Given the description of an element on the screen output the (x, y) to click on. 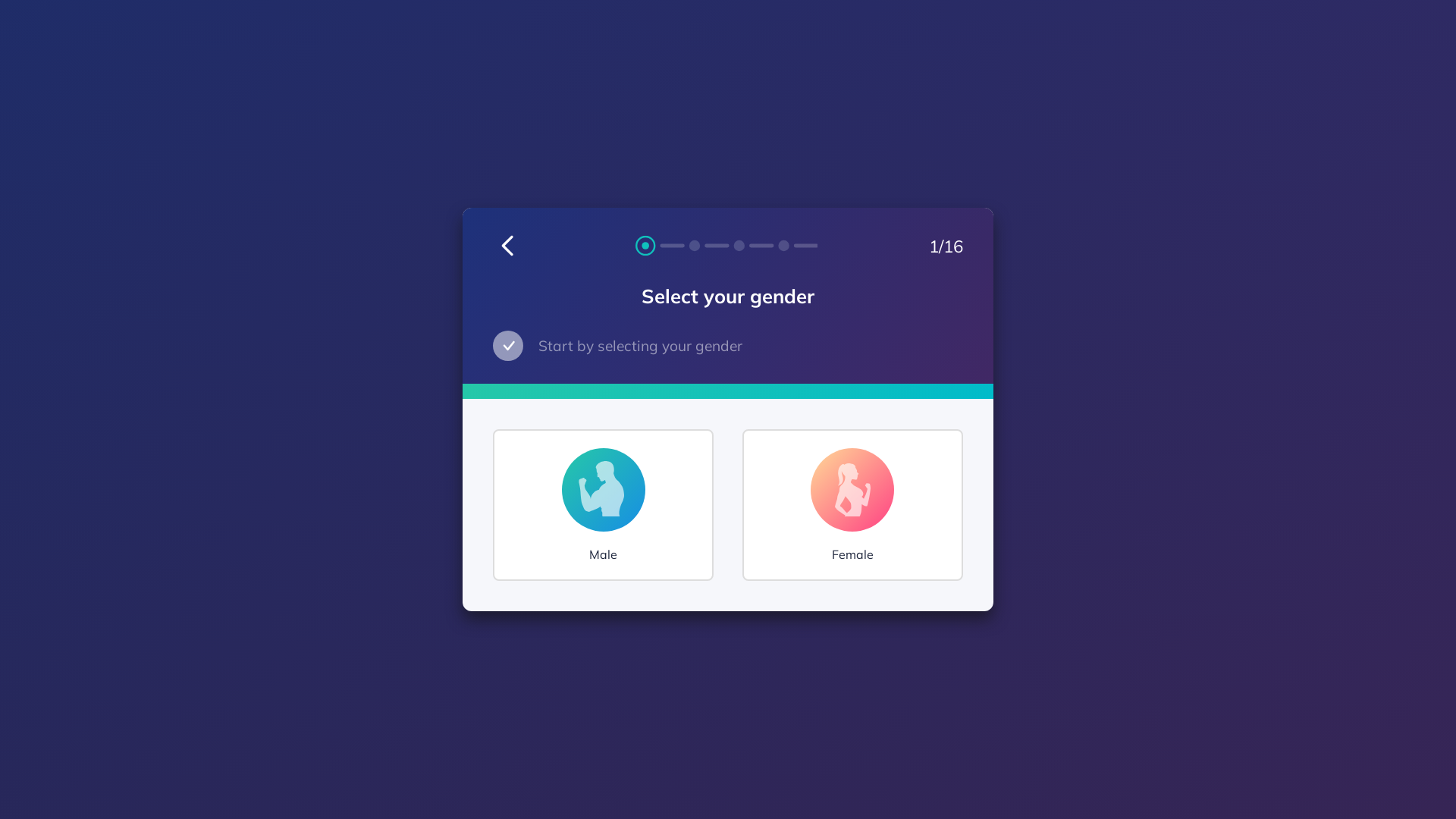
Male Element type: text (602, 504)
Female Element type: text (852, 504)
